Given the description of an element on the screen output the (x, y) to click on. 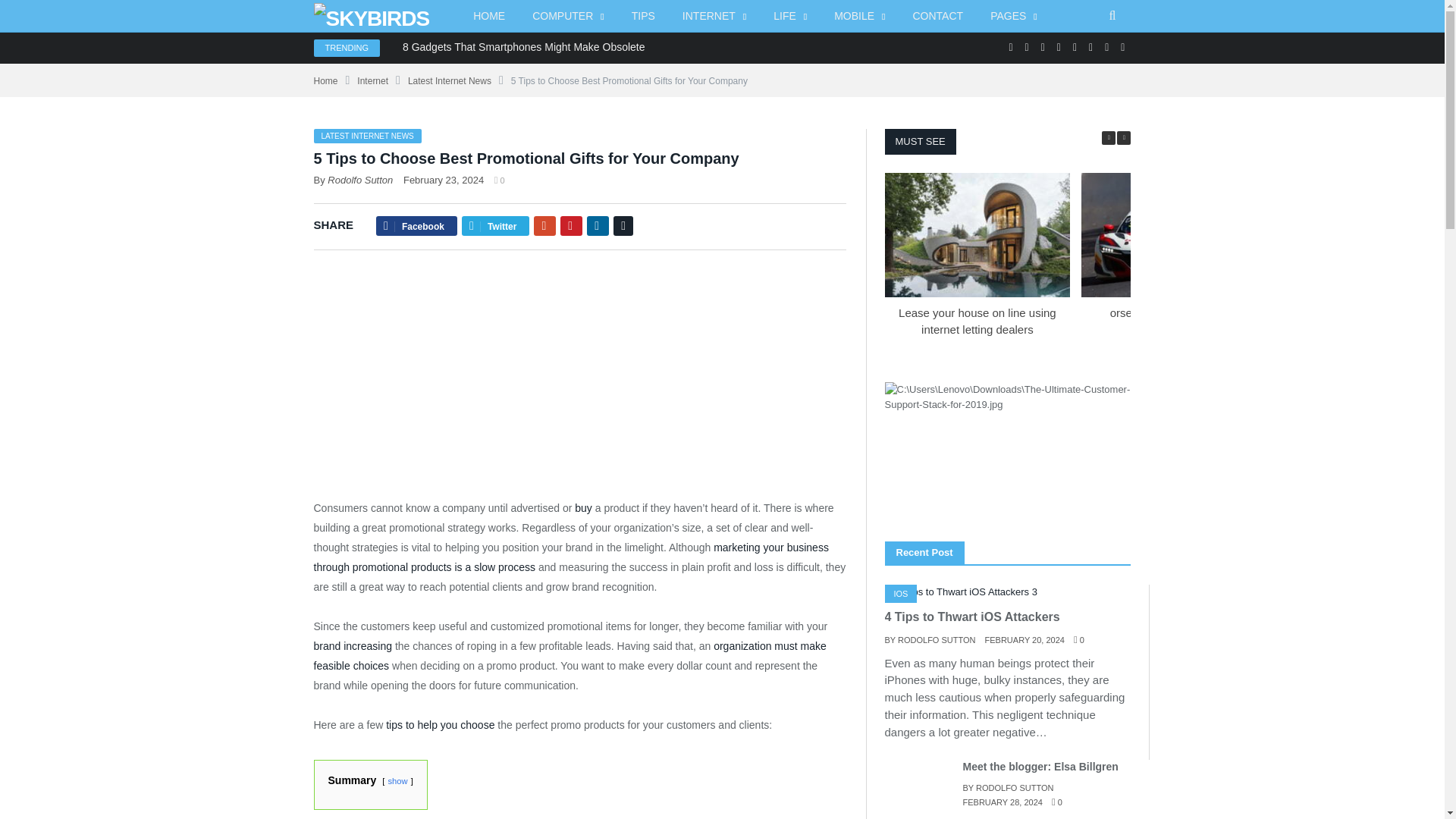
PAGES (1013, 16)
TIPS (642, 16)
MOBILE (859, 16)
LIFE (790, 16)
Instagram (1043, 47)
INTERNET (714, 16)
HOME (489, 16)
Skybirds (371, 15)
CONTACT (937, 16)
Google Plus (1027, 47)
